Given the description of an element on the screen output the (x, y) to click on. 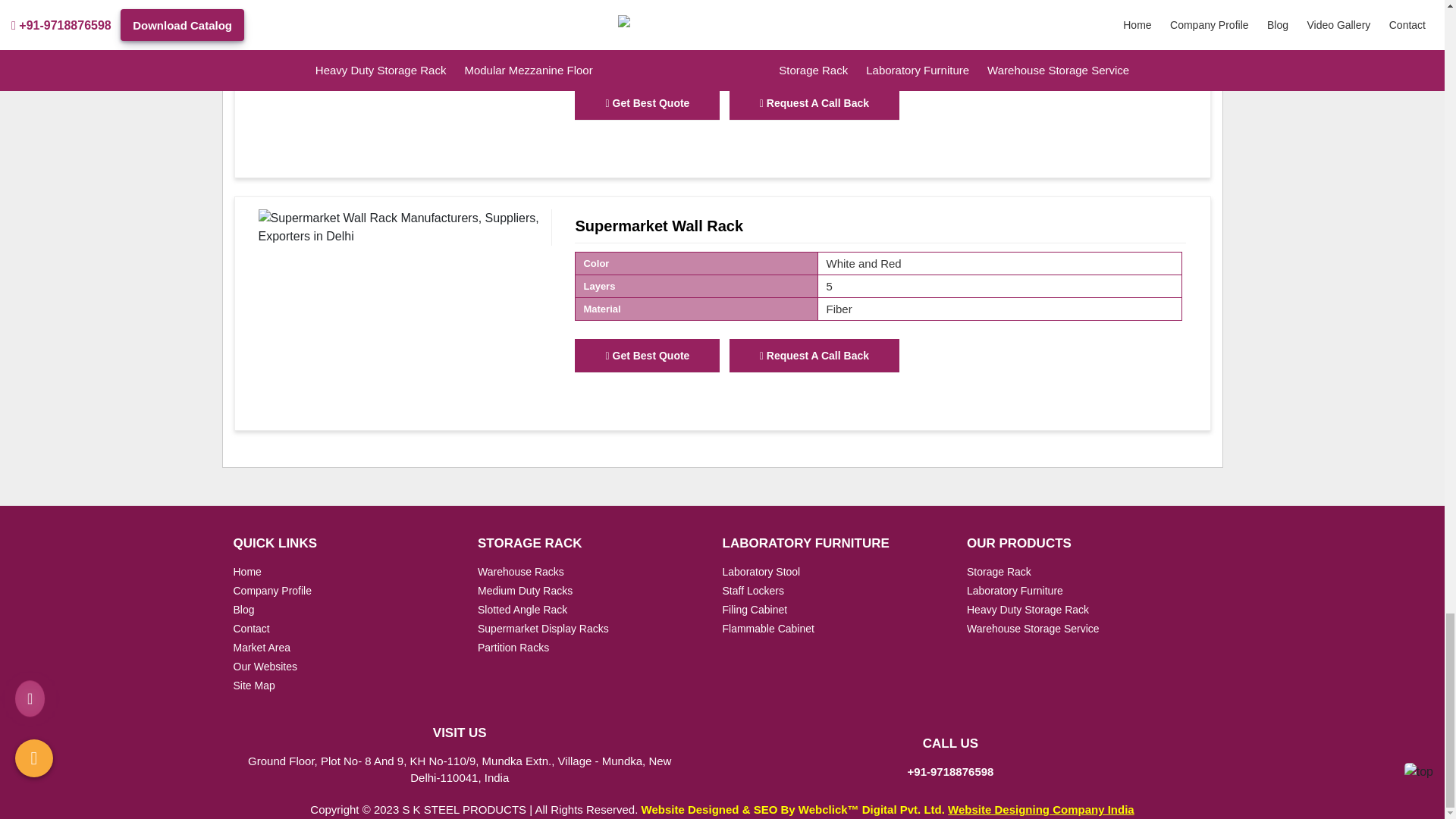
Home (247, 571)
Blog (243, 609)
Company Profile (272, 590)
Contact (250, 628)
